Given the description of an element on the screen output the (x, y) to click on. 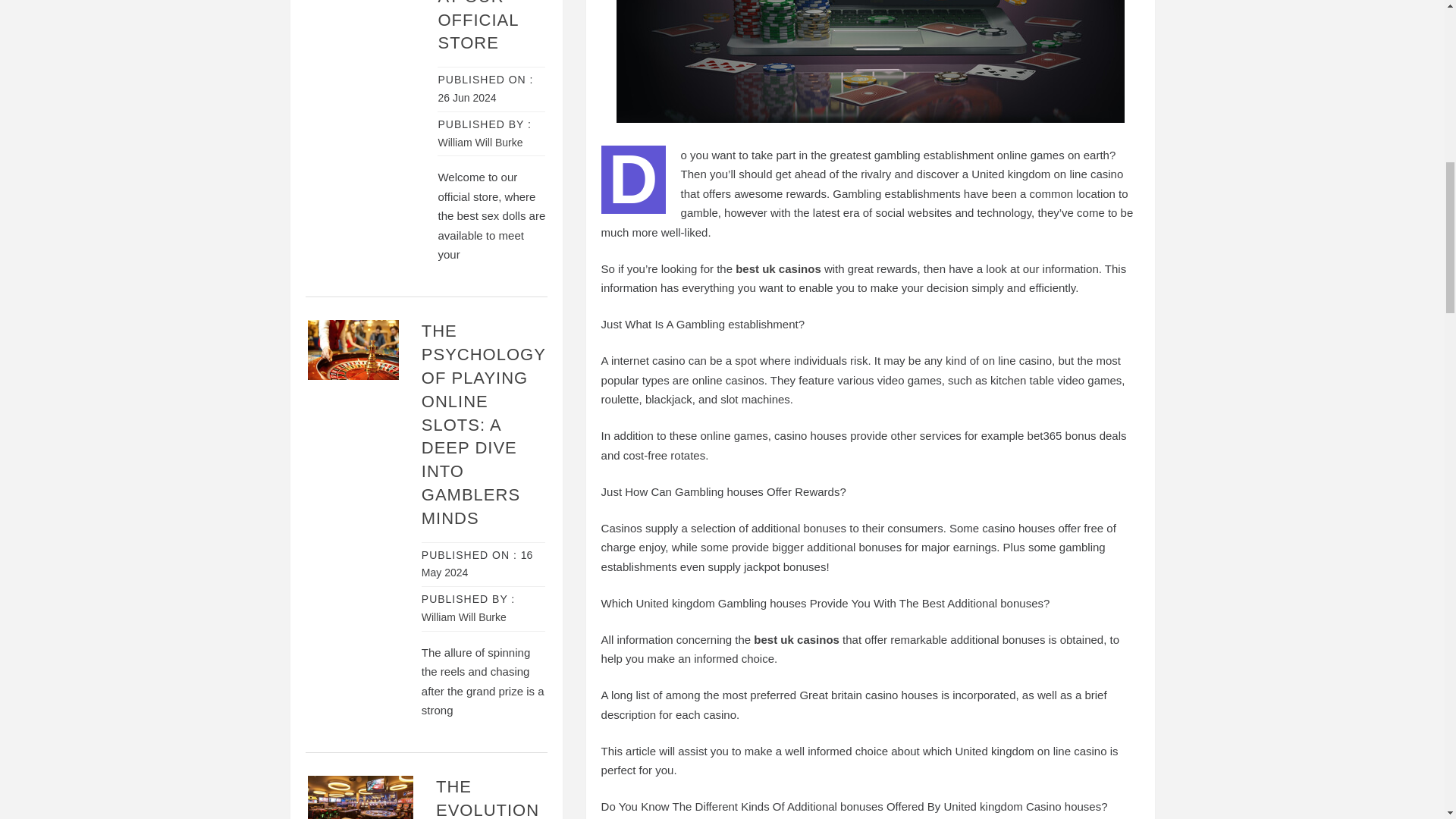
William Will Burke (464, 616)
THE EVOLUTION OF BLACKJACK: VARIANTS AND NEW TRENDS EXPLORED (490, 798)
BEST SEX DOLLS AVAILABLE AT OUR OFFICIAL STORE (484, 26)
best uk casinos (778, 268)
William Will Burke (480, 142)
